Given the description of an element on the screen output the (x, y) to click on. 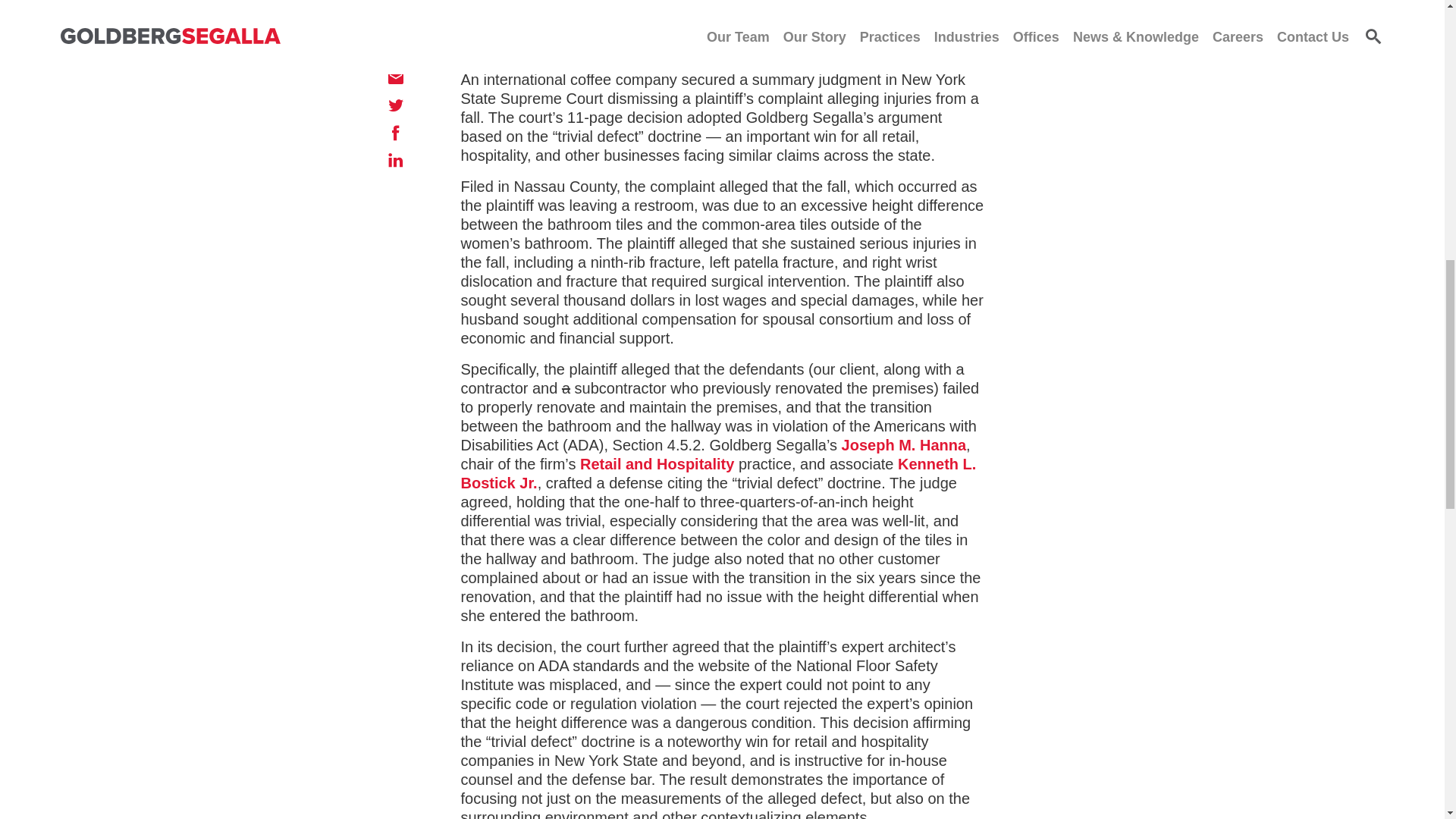
Retail and Hospitality (656, 463)
Joseph M. Hanna (903, 444)
Kenneth L. Bostick Jr. (718, 473)
